Given the description of an element on the screen output the (x, y) to click on. 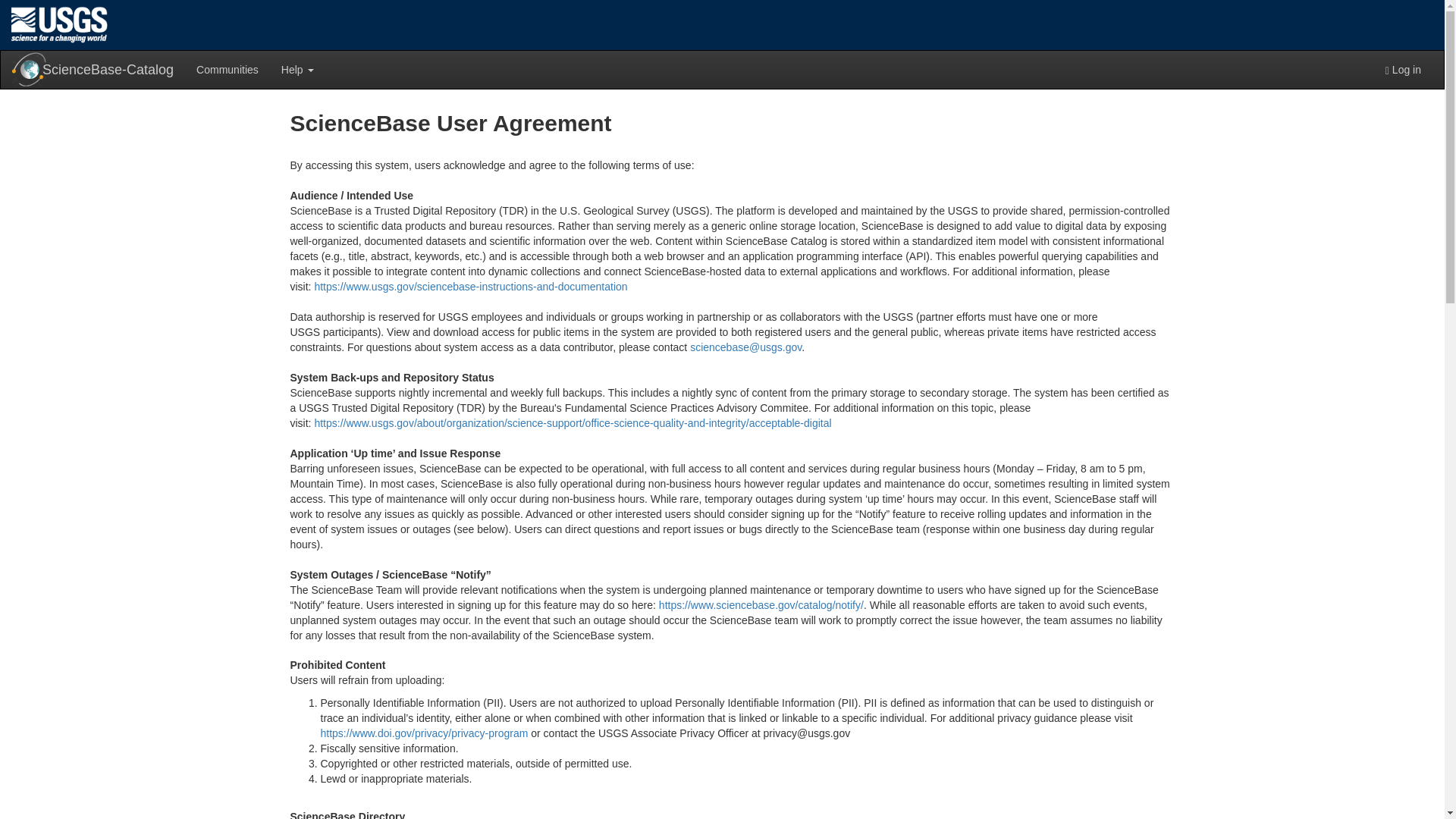
ScienceBase Help (296, 69)
Help (296, 69)
Log in (1403, 69)
Communities (226, 69)
View ScienceBase Communities (226, 69)
U.S. Geological Survey Home Page (59, 24)
ScienceBase-Catalog (92, 69)
ScienceBase (28, 69)
Home (59, 24)
